Given the description of an element on the screen output the (x, y) to click on. 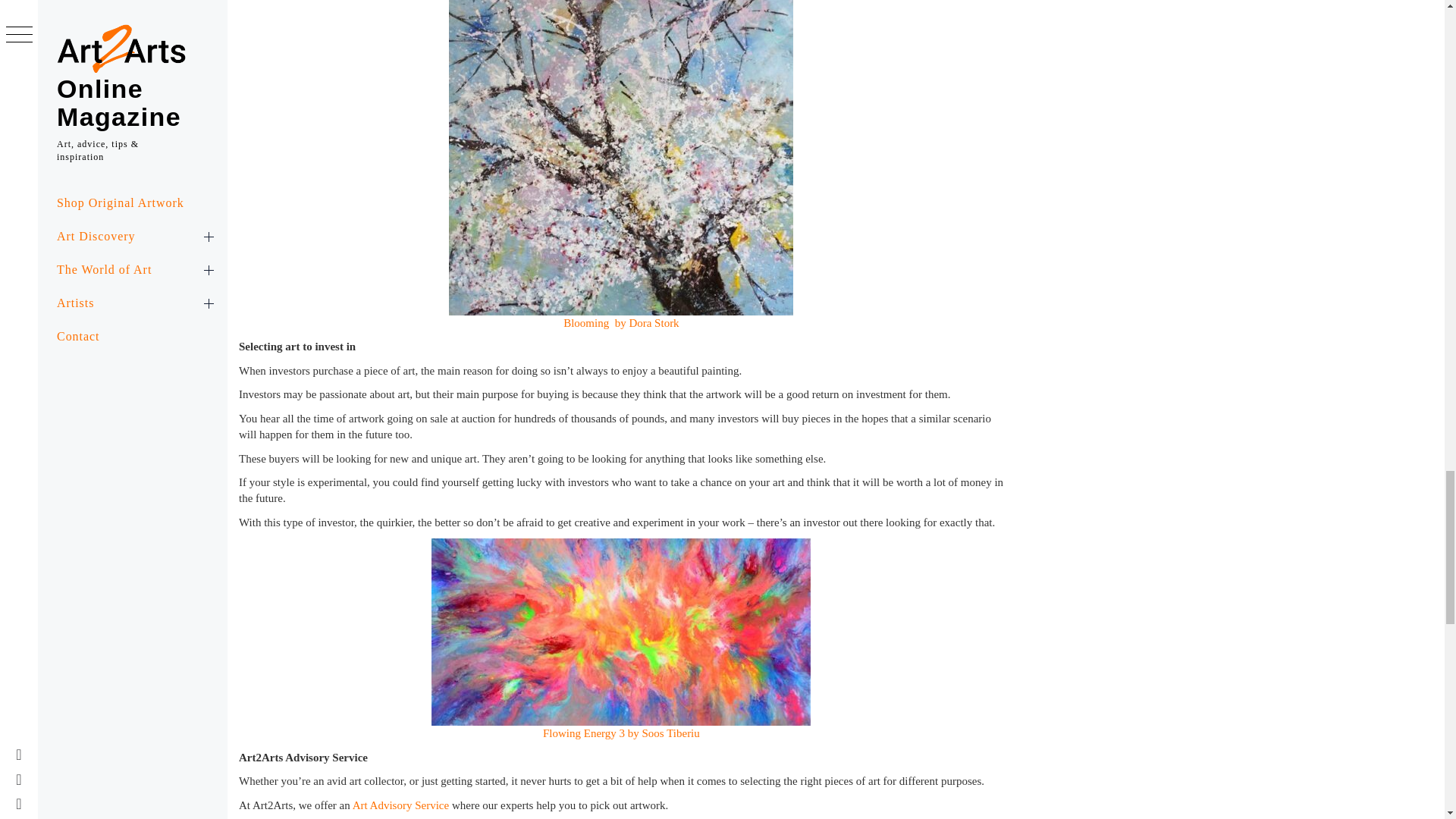
Blooming  by Dora Stork (621, 322)
Art Advisory Service (400, 805)
Flowing Energy 3 by Soos Tiberiu (621, 733)
